Given the description of an element on the screen output the (x, y) to click on. 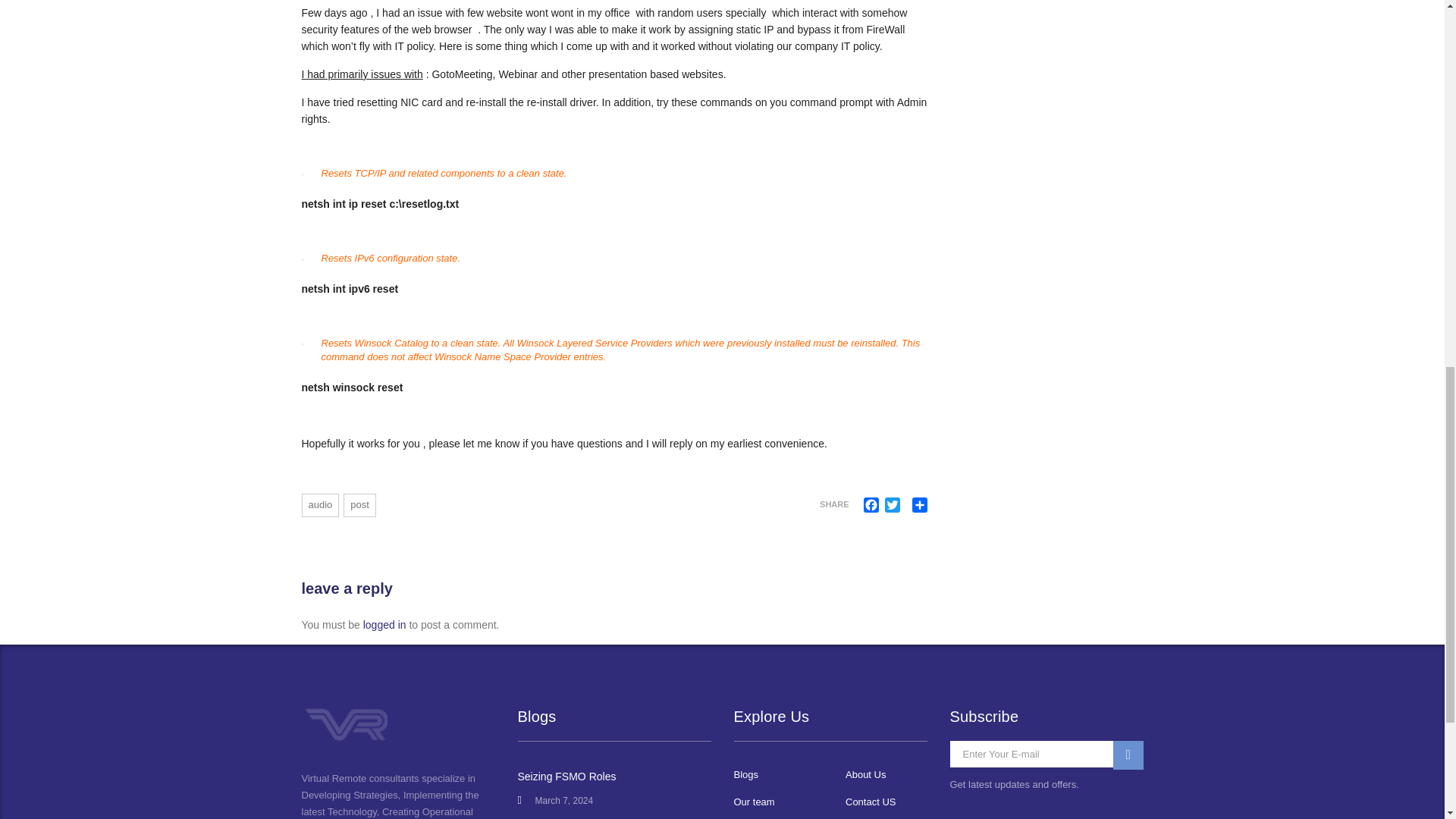
audio (320, 505)
Facebook (870, 504)
Facebook (870, 504)
post (359, 505)
Twitter (891, 504)
Twitter (891, 504)
